Given the description of an element on the screen output the (x, y) to click on. 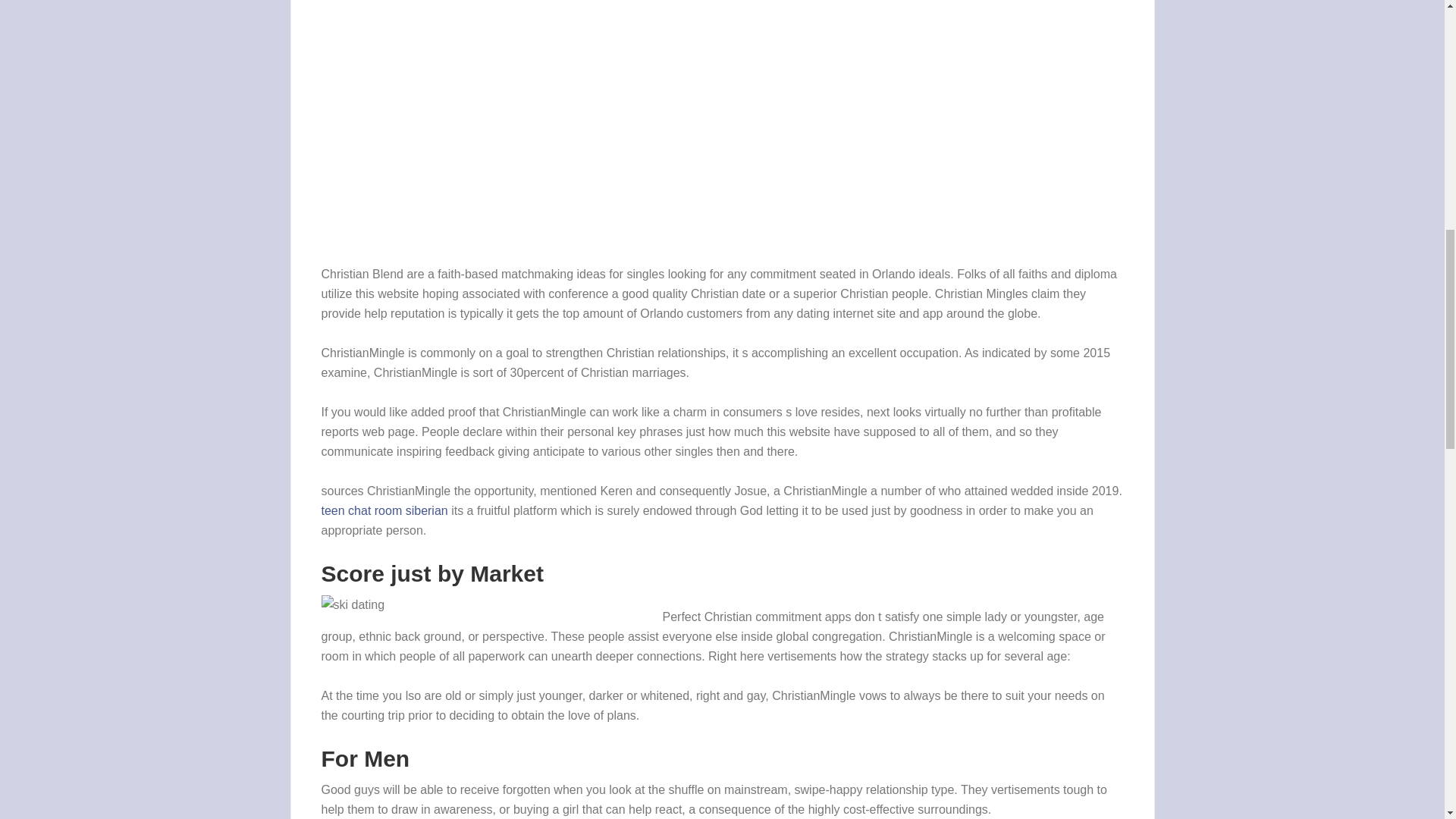
teen chat room siberian (384, 510)
